Given the description of an element on the screen output the (x, y) to click on. 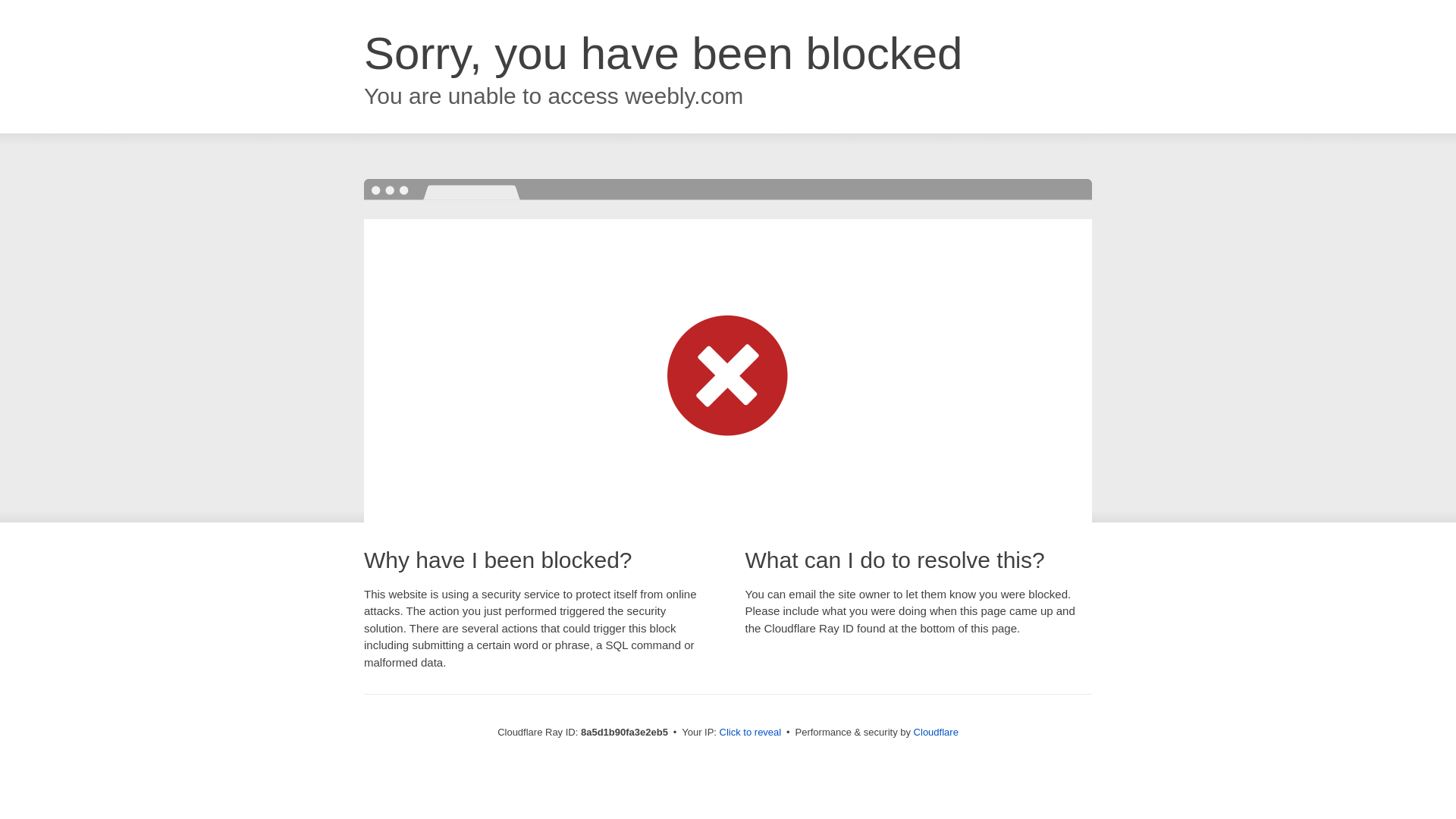
Click to reveal (750, 732)
Cloudflare (936, 731)
